Given the description of an element on the screen output the (x, y) to click on. 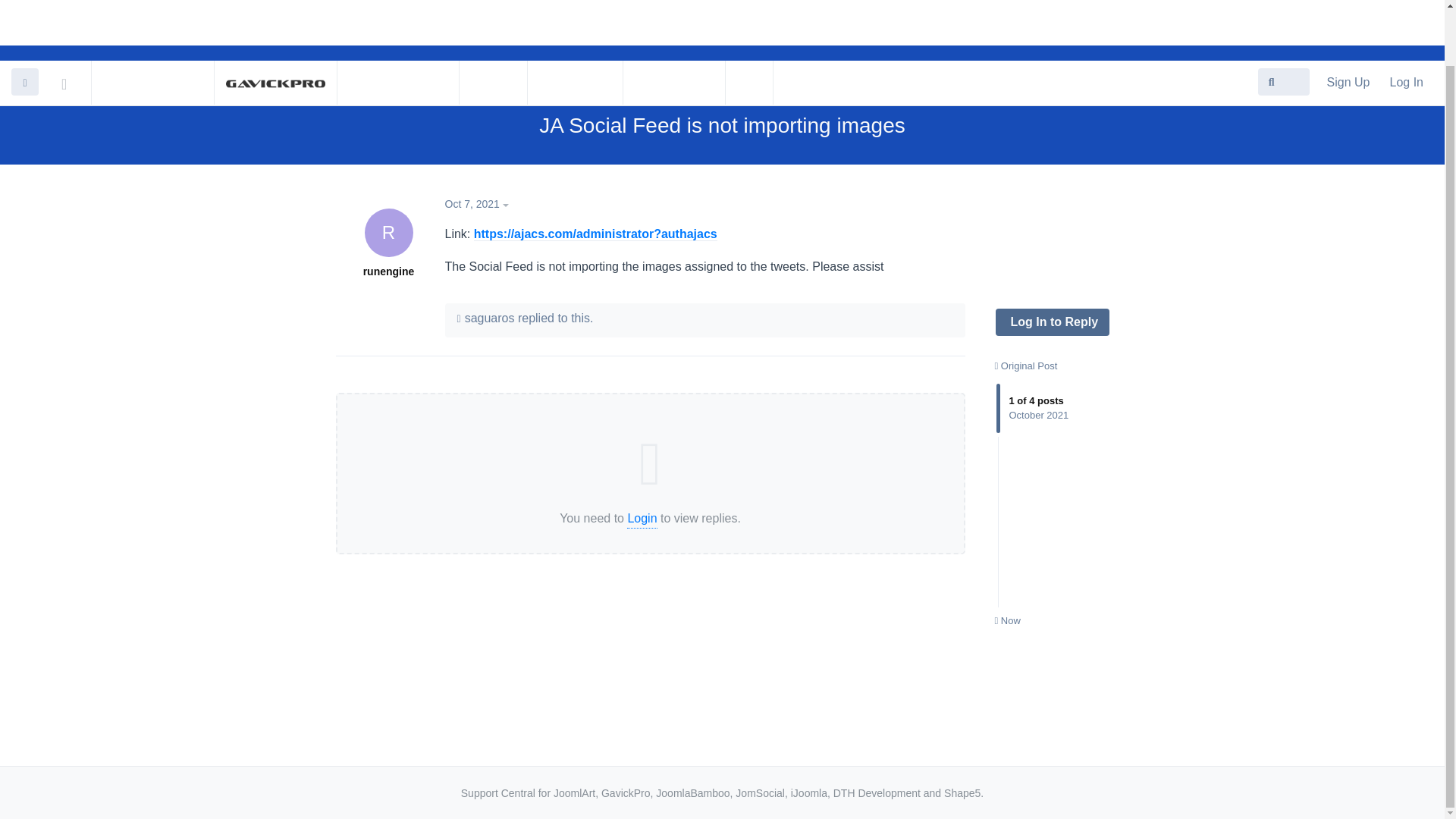
Thursday, October 7, 2021 4:18 AM (471, 203)
Shape5 Homepage (493, 22)
Log In (1406, 21)
Login (641, 518)
JoomlArt Homepage (152, 22)
JA Joomla Extensions (675, 86)
DTH (749, 22)
JoomlaBamboo Homepage (398, 22)
JA Social Feed (1053, 432)
SHAPE5 (781, 86)
Sign Up (493, 22)
JOMSOCIAL (1348, 21)
Support Central (674, 22)
JomSocial Homepage (74, 20)
